Given the description of an element on the screen output the (x, y) to click on. 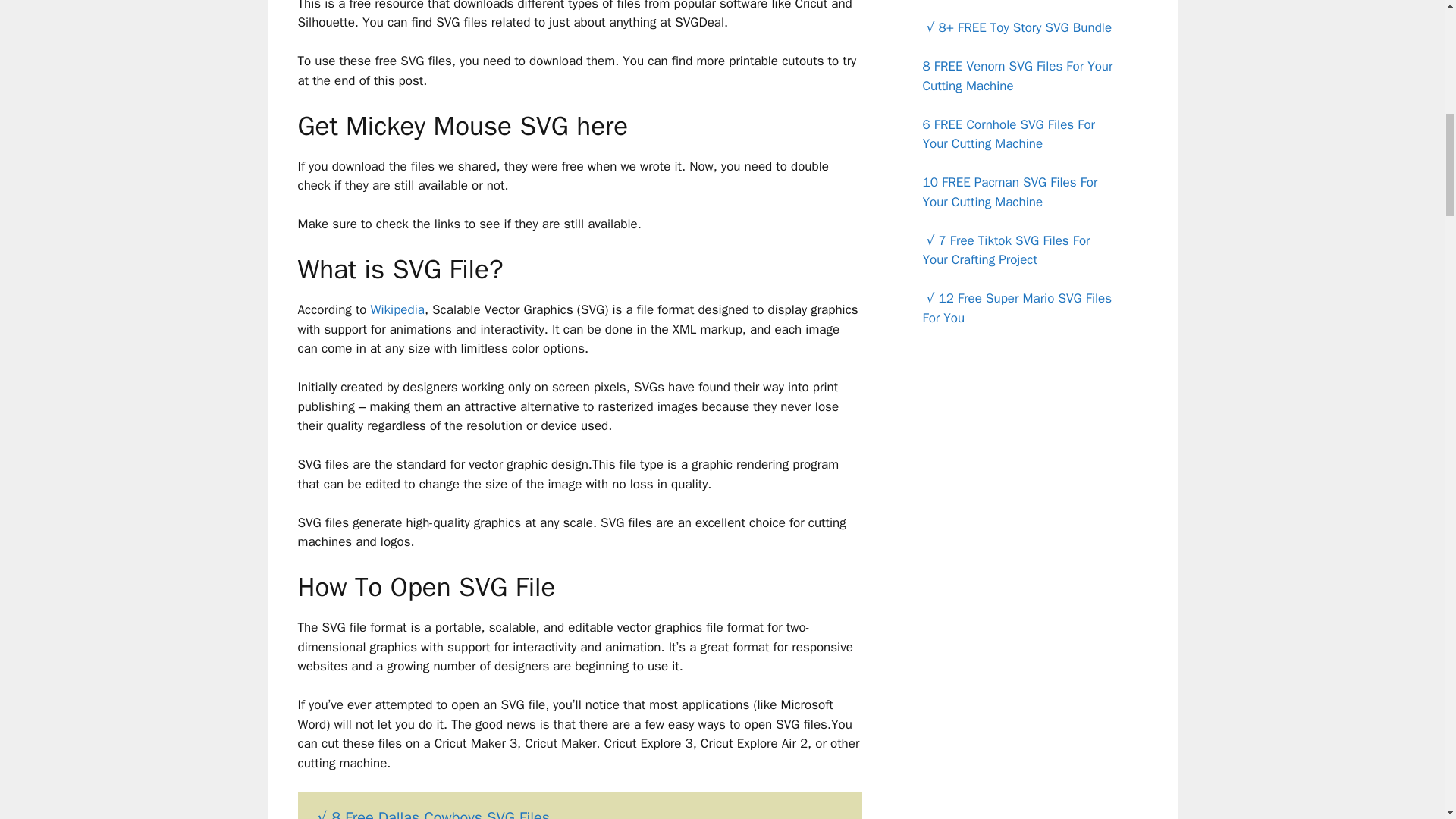
Wikipedia (398, 309)
Scroll back to top (1406, 720)
